Given the description of an element on the screen output the (x, y) to click on. 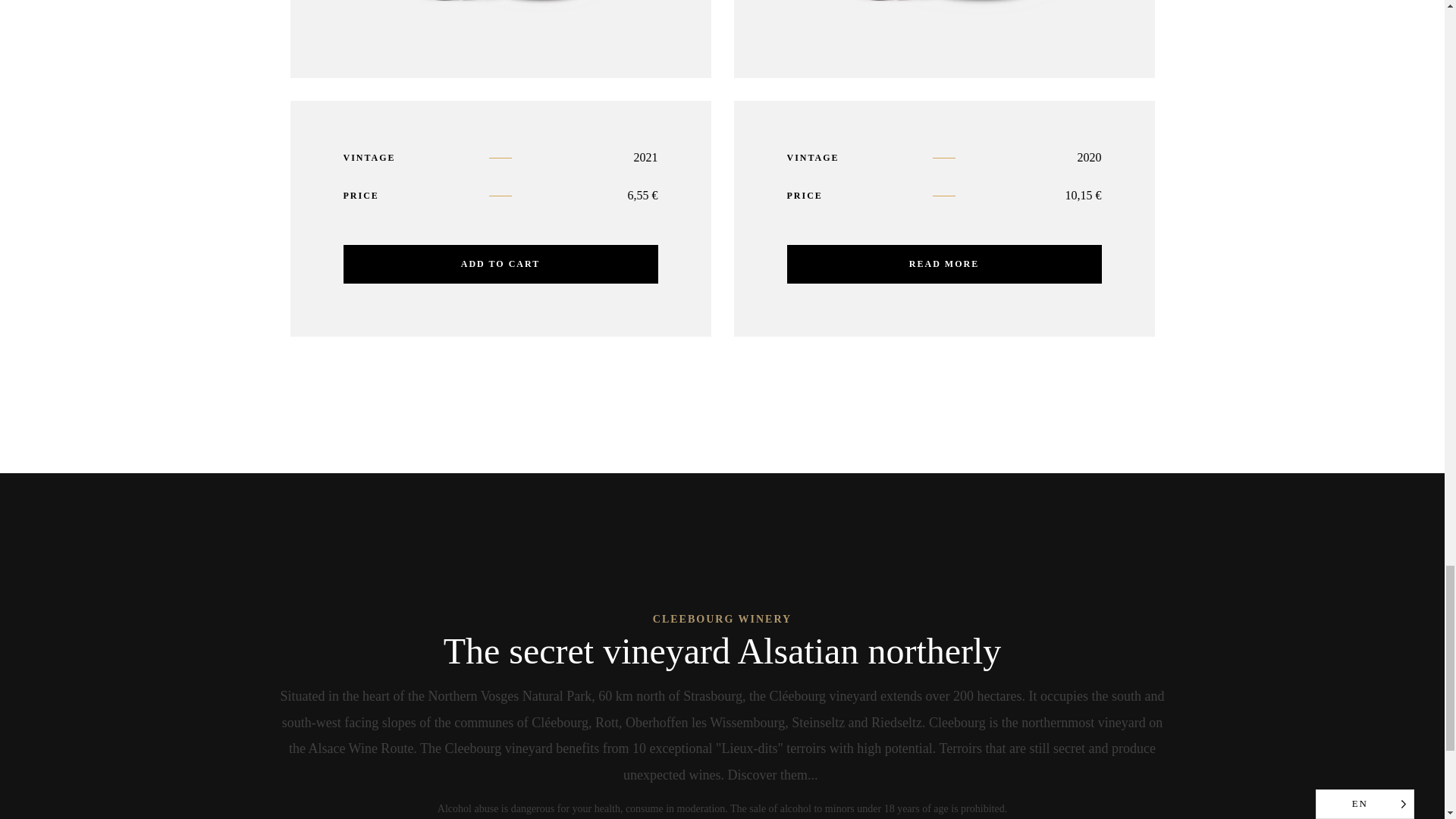
READ MORE (944, 263)
Auxerrois Gold Medal Paris (943, 38)
ADD TO CART (499, 38)
